Given the description of an element on the screen output the (x, y) to click on. 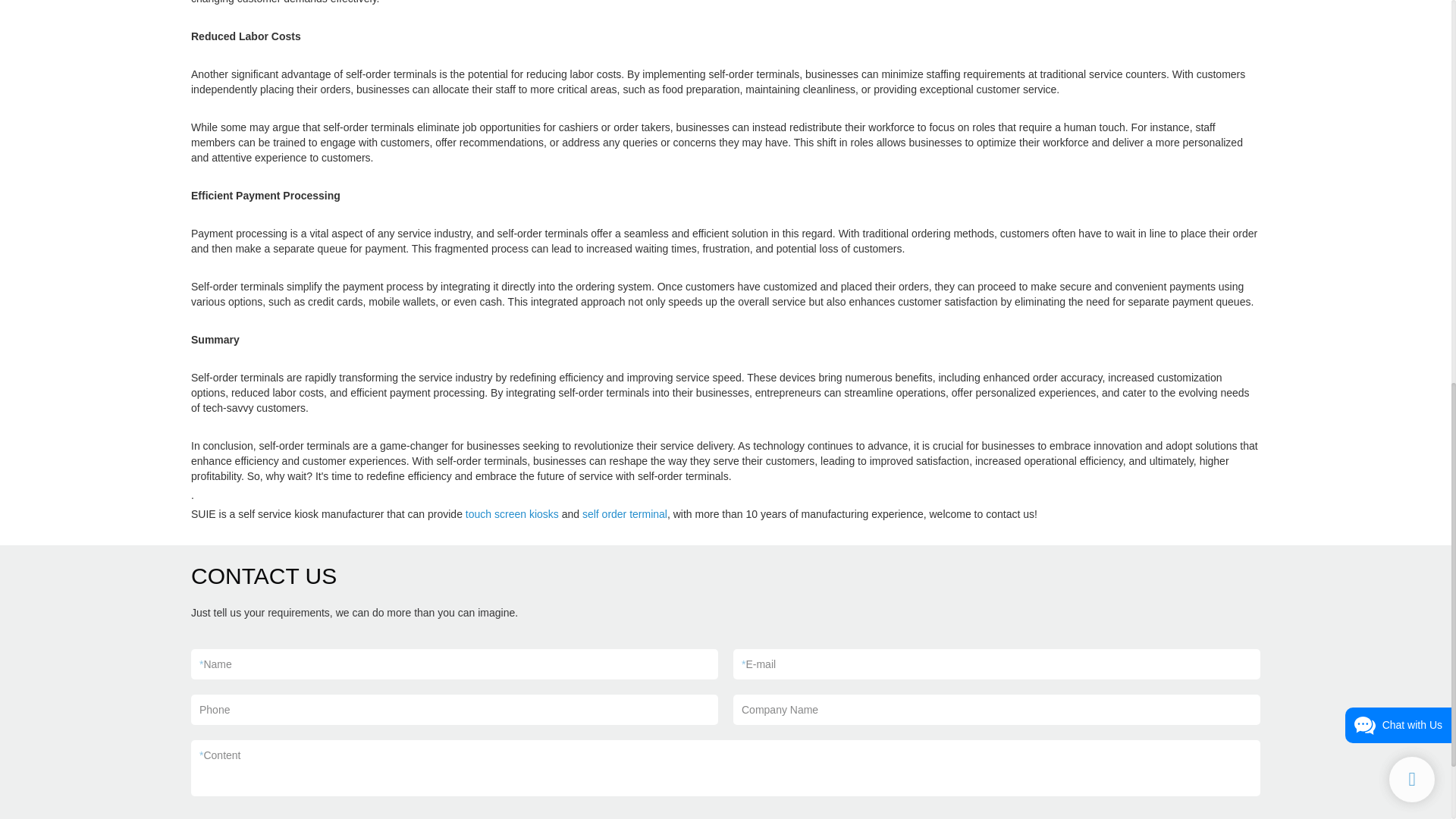
self order terminal (624, 513)
self order terminal (624, 513)
touch screen kiosks (512, 513)
touch screen kiosks (512, 513)
